Given the description of an element on the screen output the (x, y) to click on. 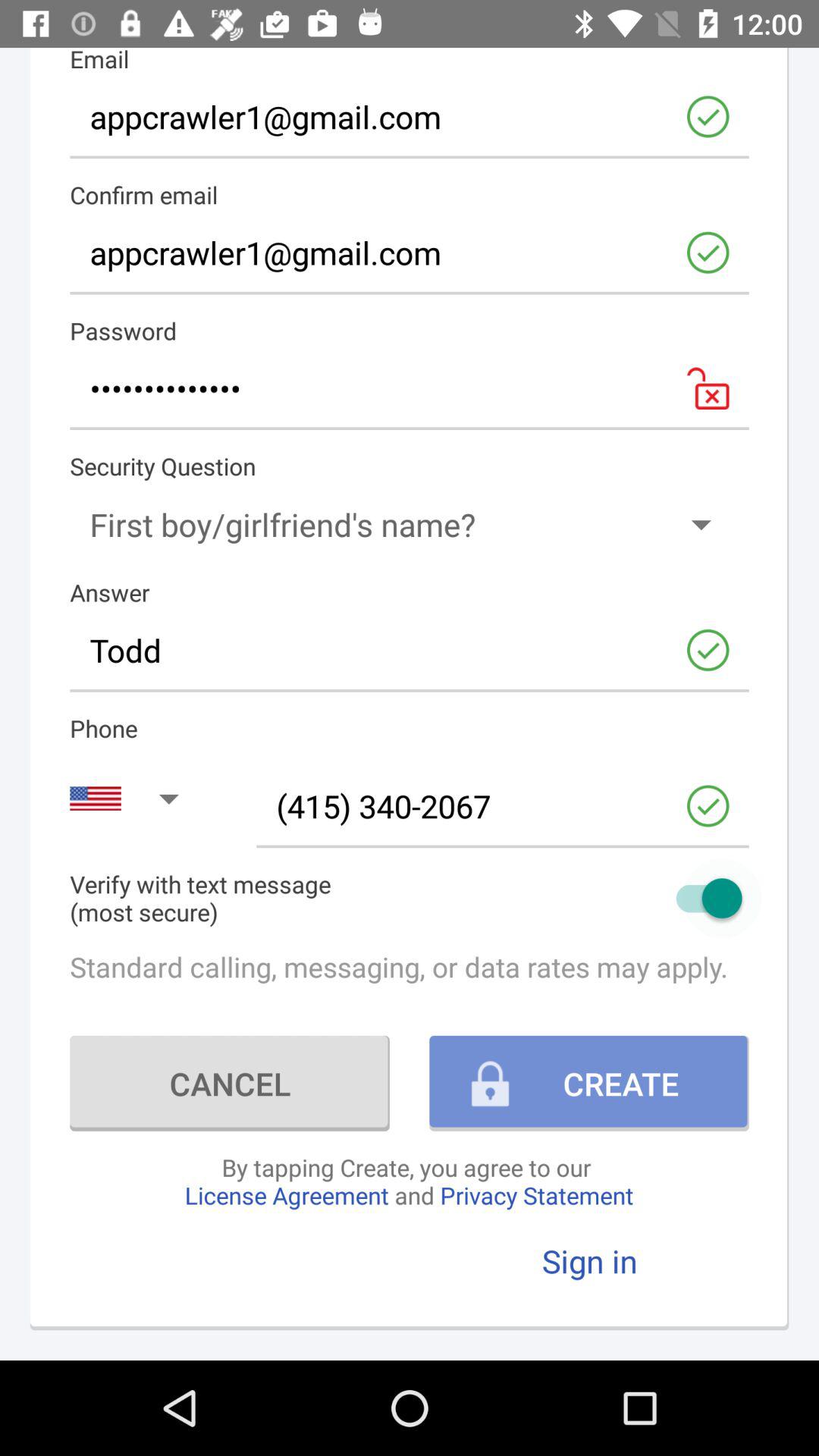
turn off icon below the password icon (409, 387)
